Given the description of an element on the screen output the (x, y) to click on. 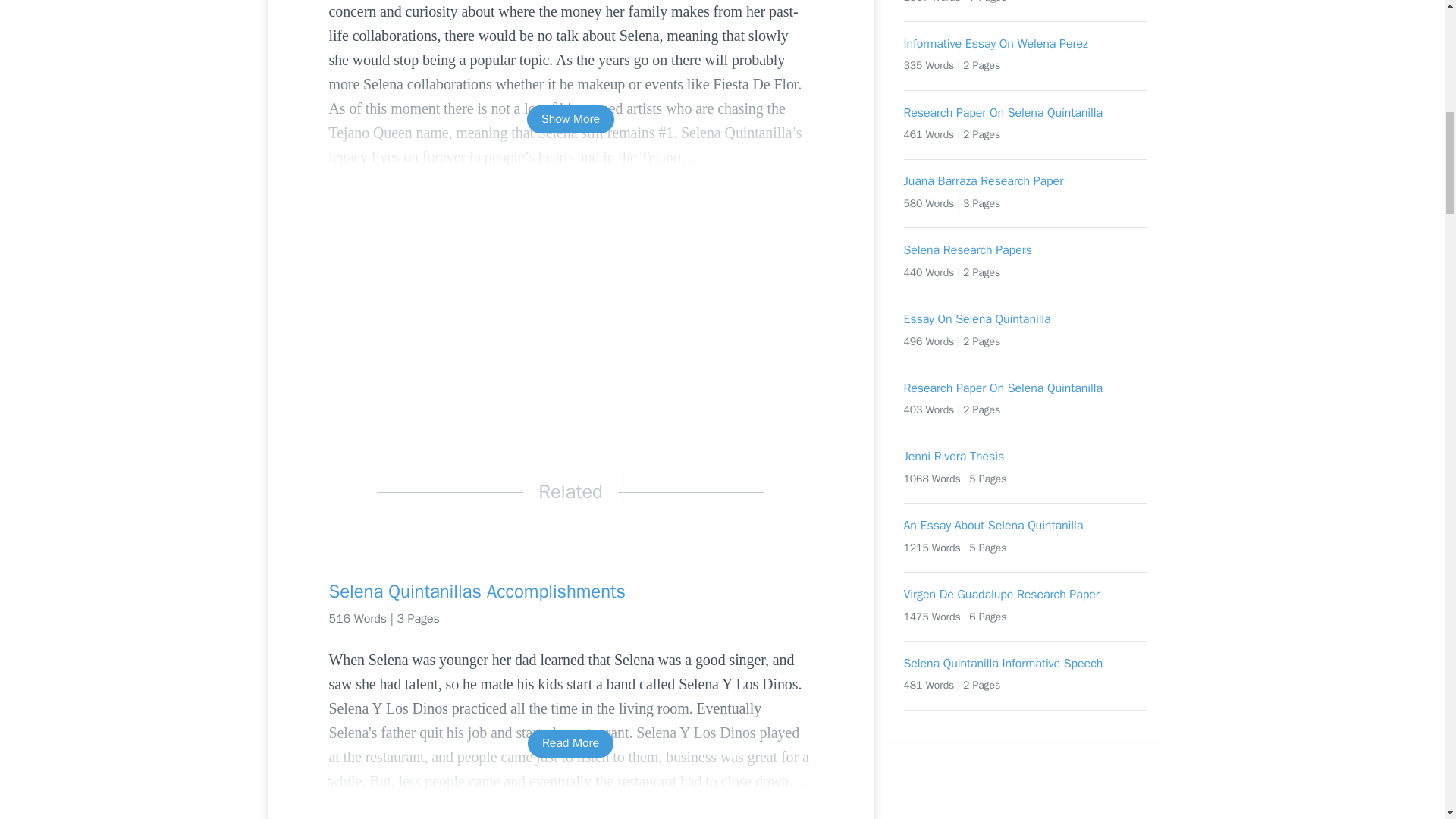
Selena Quintanillas Accomplishments (570, 591)
Show More (570, 119)
Read More (569, 743)
